Given the description of an element on the screen output the (x, y) to click on. 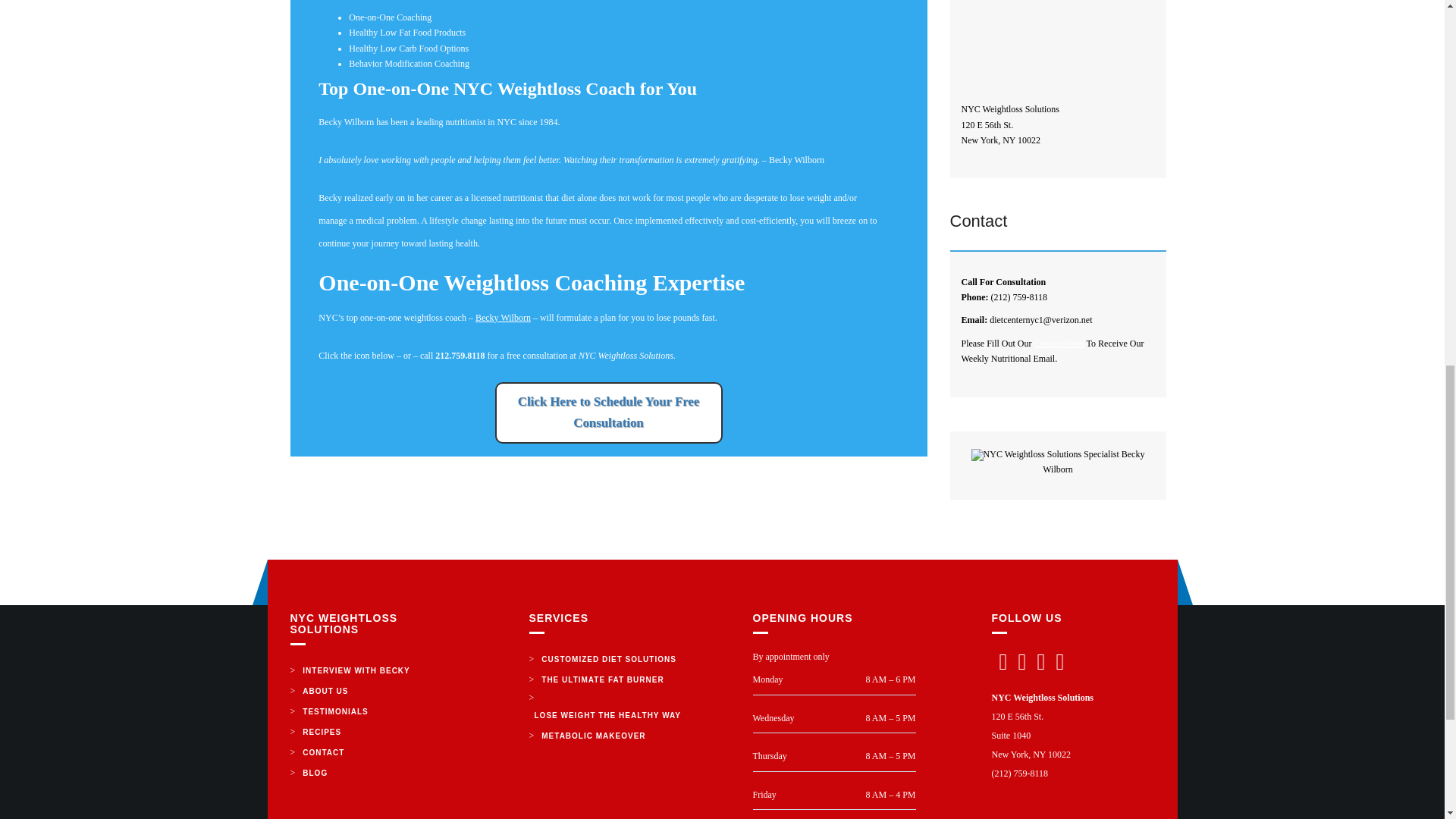
METABOLIC MAKEOVER (592, 735)
THE ULTIMATE FAT BURNER (601, 679)
Becky Wilborn (503, 317)
Contact Form (1058, 343)
RECIPES (321, 731)
Click Here to Schedule Your Free Consultation (608, 412)
CONTACT (323, 752)
TESTIMONIALS (334, 711)
BLOG (315, 772)
LOSE WEIGHT THE HEALTHY WAY (608, 715)
INTERVIEW WITH BECKY (355, 670)
ABOUT US (325, 690)
CUSTOMIZED DIET SOLUTIONS (608, 659)
